Given the description of an element on the screen output the (x, y) to click on. 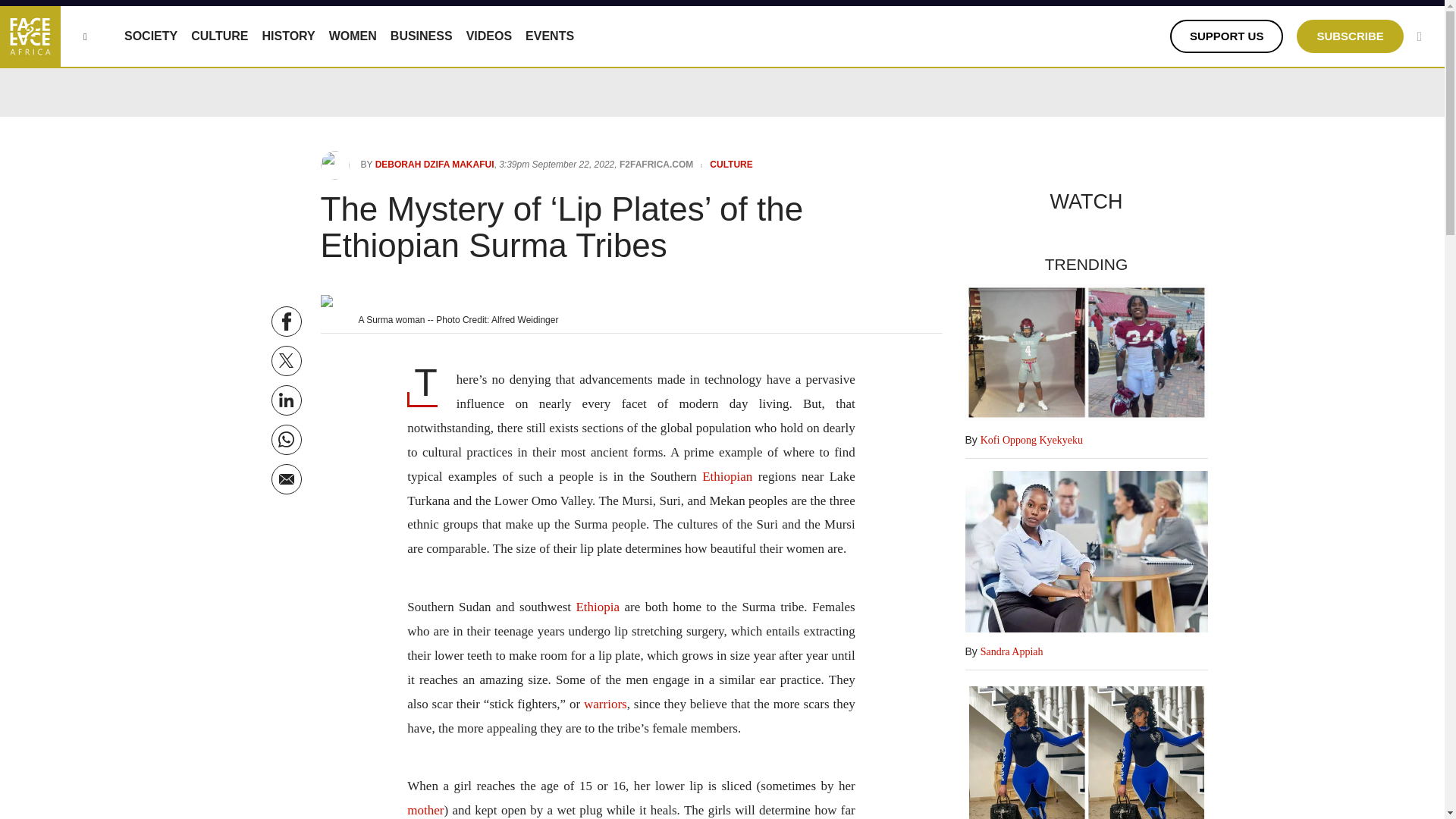
WOMEN (353, 35)
SOCIETY (150, 35)
BUSINESS (421, 35)
CULTURE (218, 35)
SUBSCRIBE (1350, 36)
SUPPORT US (1227, 36)
VIDEOS (488, 35)
EVENTS (549, 35)
HISTORY (288, 35)
